Given the description of an element on the screen output the (x, y) to click on. 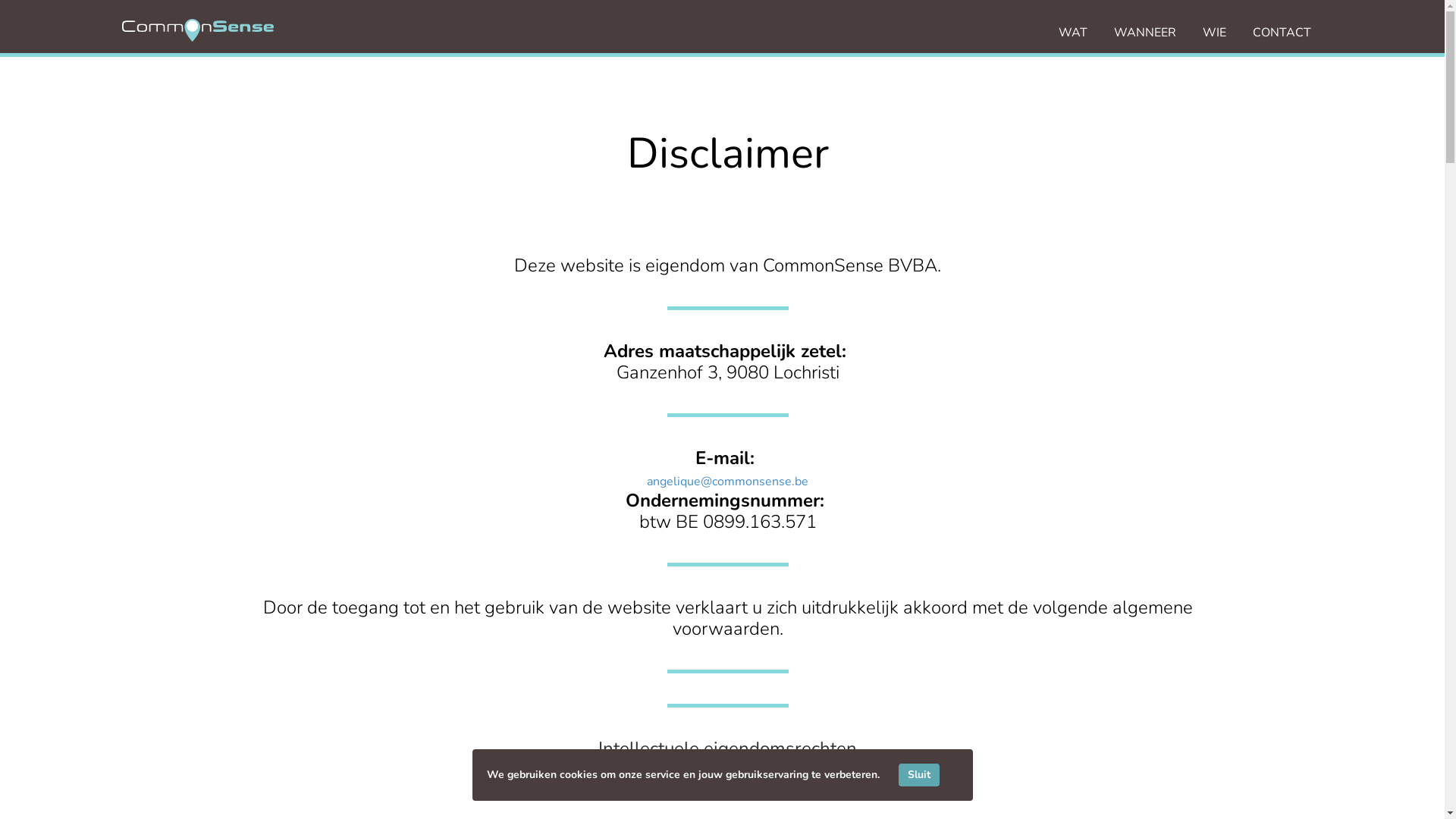
WANNEER Element type: text (1144, 32)
angelique@commonsense.be Element type: text (727, 481)
Sluit Element type: text (917, 774)
WAT Element type: text (1072, 32)
WIE Element type: text (1214, 32)
CONTACT Element type: text (1281, 32)
